Given the description of an element on the screen output the (x, y) to click on. 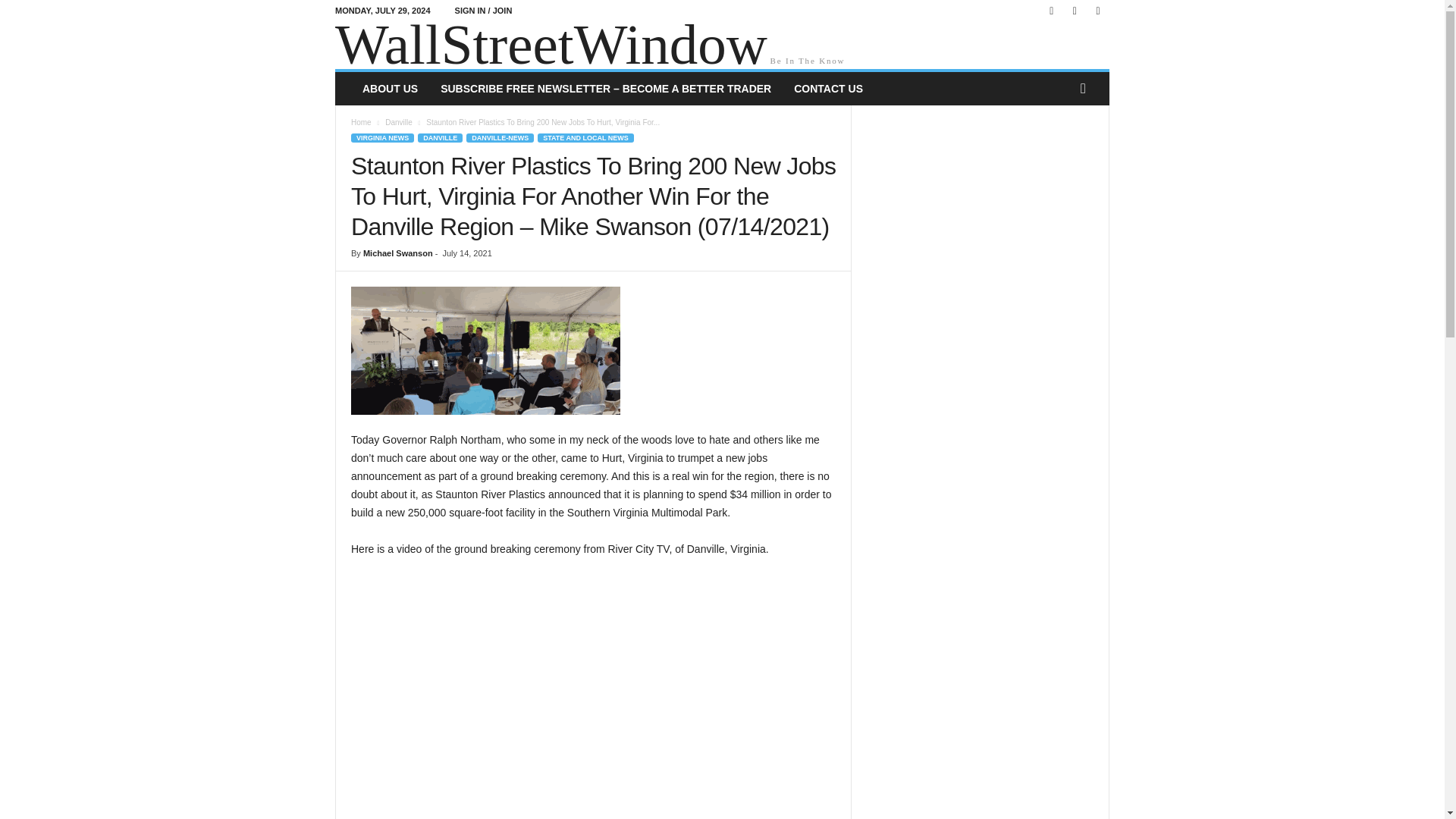
stauntonriverplastics (485, 350)
CONTACT US (829, 88)
View all posts in Danville (398, 121)
DANVILLE-NEWS (499, 137)
STATE AND LOCAL NEWS (585, 137)
Home (360, 121)
WallStreetWindow Be In The Know (721, 45)
Danville (398, 121)
DANVILLE (440, 137)
Michael Swanson (397, 252)
VIRGINIA NEWS (381, 137)
ABOUT US (389, 88)
